Given the description of an element on the screen output the (x, y) to click on. 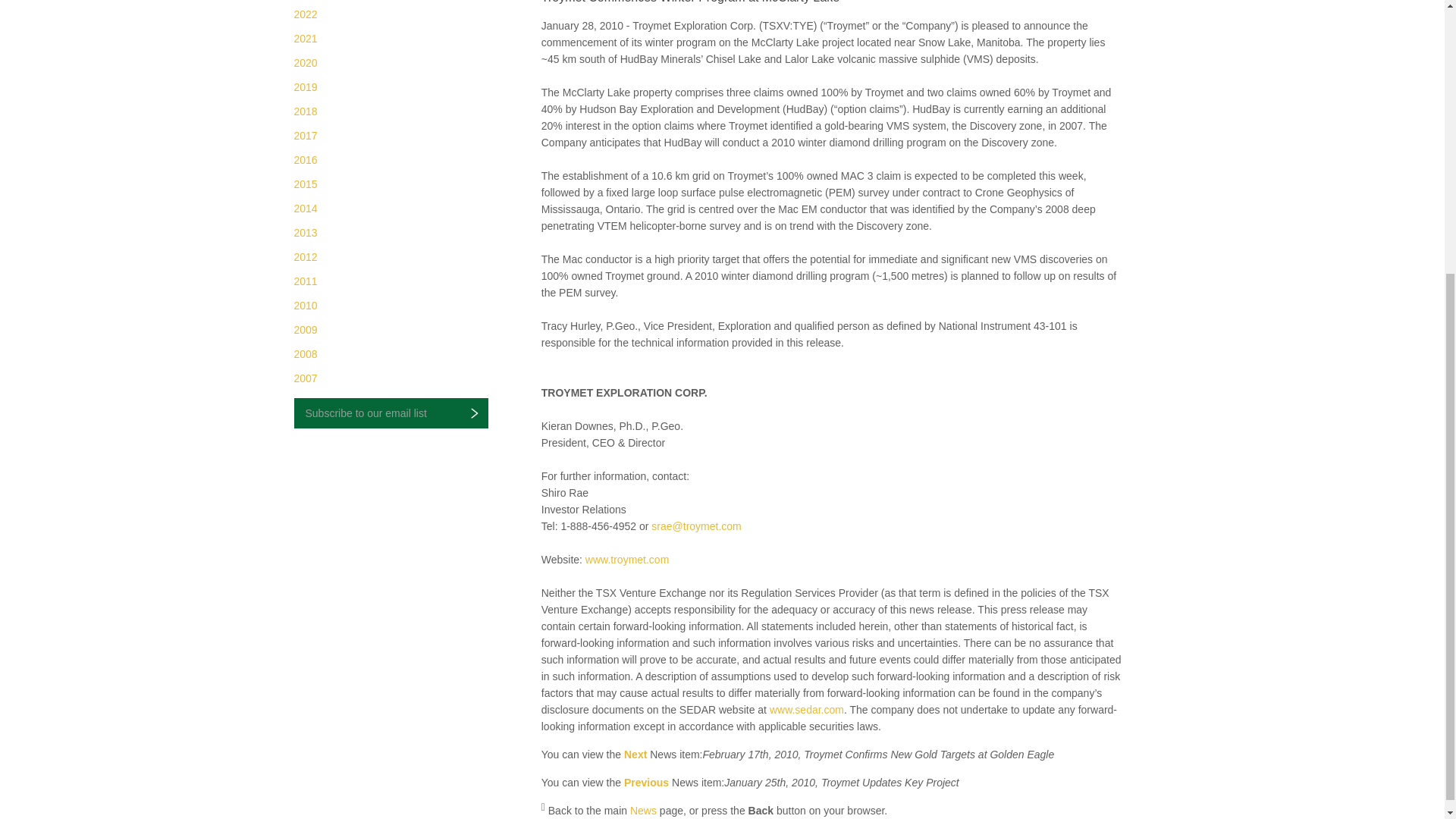
www.sedar.com (807, 709)
2016 (305, 159)
2022 (305, 14)
2020 (305, 62)
2015 (305, 184)
www.troymet.com (626, 559)
Next (635, 754)
Previous (646, 782)
2018 (305, 111)
2017 (305, 135)
